Given the description of an element on the screen output the (x, y) to click on. 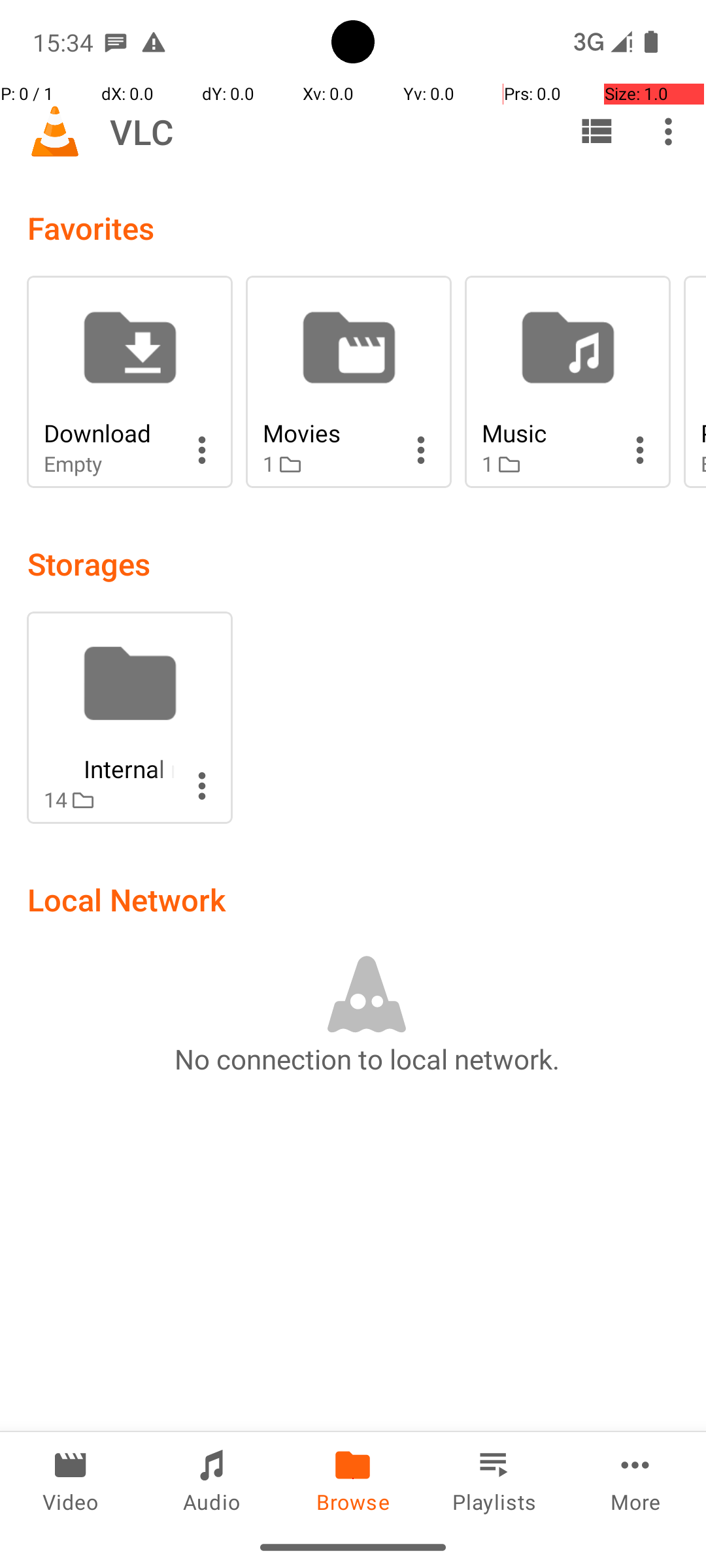
Display in list Element type: android.widget.TextView (595, 131)
Storages Element type: android.widget.TextView (88, 563)
Local Network Element type: android.widget.TextView (126, 898)
No connection to local network. Element type: android.widget.TextView (366, 1058)
Favorite: Download, Empty Element type: androidx.cardview.widget.CardView (129, 381)
Favorite: Movies, 1 subfolder Element type: androidx.cardview.widget.CardView (348, 381)
Favorite: Music, 1 subfolder Element type: androidx.cardview.widget.CardView (567, 381)
Favorite: Podcasts, Empty Element type: androidx.cardview.widget.CardView (694, 381)
Folder: Internal memory, 14 subfolders Element type: androidx.cardview.widget.CardView (129, 717)
Empty Element type: android.widget.TextView (108, 463)
More Actions Element type: android.widget.ImageView (201, 449)
Movies Element type: android.widget.TextView (327, 432)
1 §*§ Element type: android.widget.TextView (327, 463)
Podcasts Element type: android.widget.TextView (703, 432)
Internal memory Element type: android.widget.TextView (108, 768)
14 §*§ Element type: android.widget.TextView (108, 799)
